Given the description of an element on the screen output the (x, y) to click on. 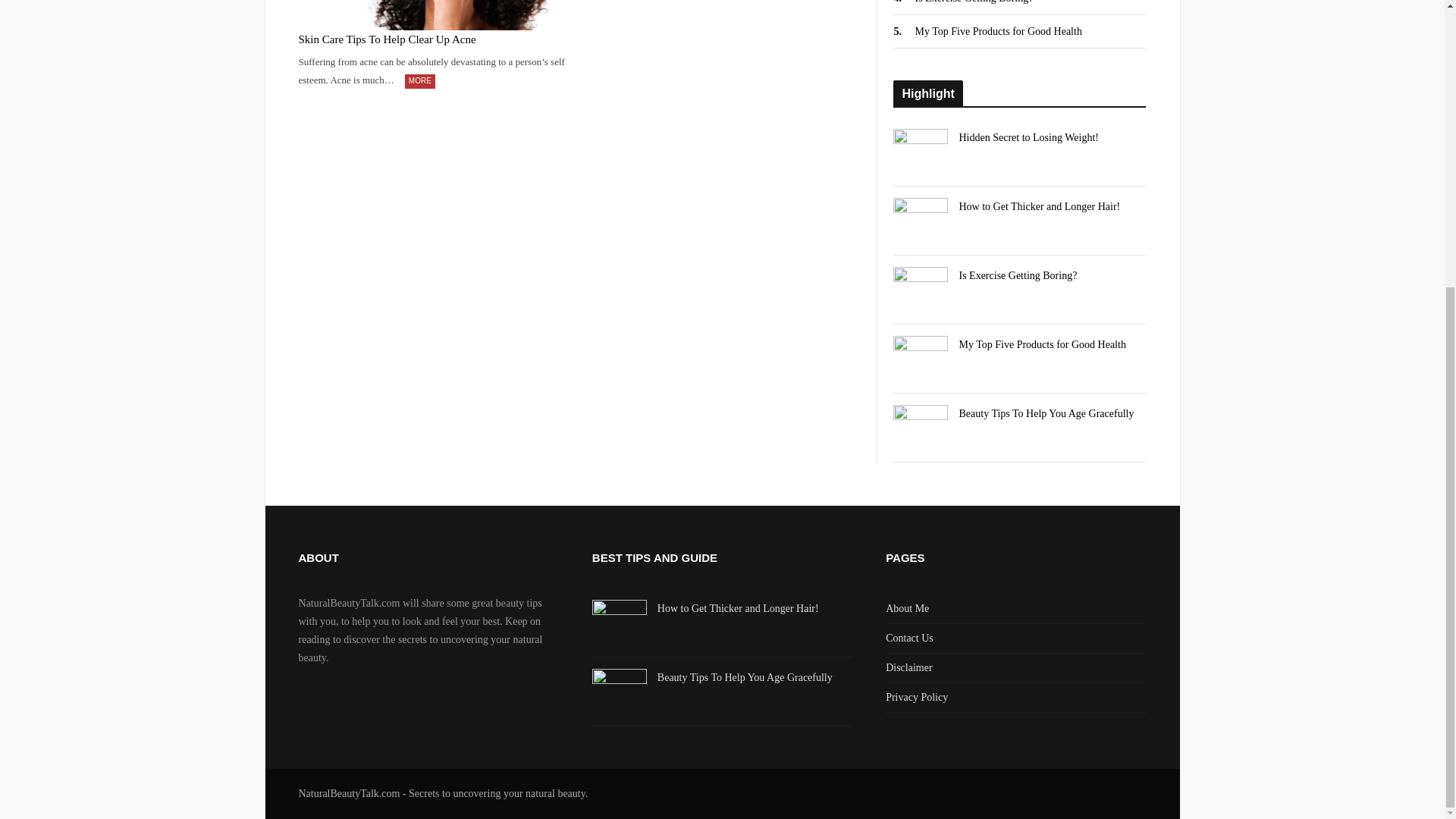
MORE (419, 81)
My Top Five Products for Good Health (997, 30)
Read More (419, 81)
Skin Care Tips To Help Clear Up Acne (434, 39)
Is Exercise Getting Boring? (973, 2)
Skin Care Tips To Help Clear Up Acne (434, 15)
